Given the description of an element on the screen output the (x, y) to click on. 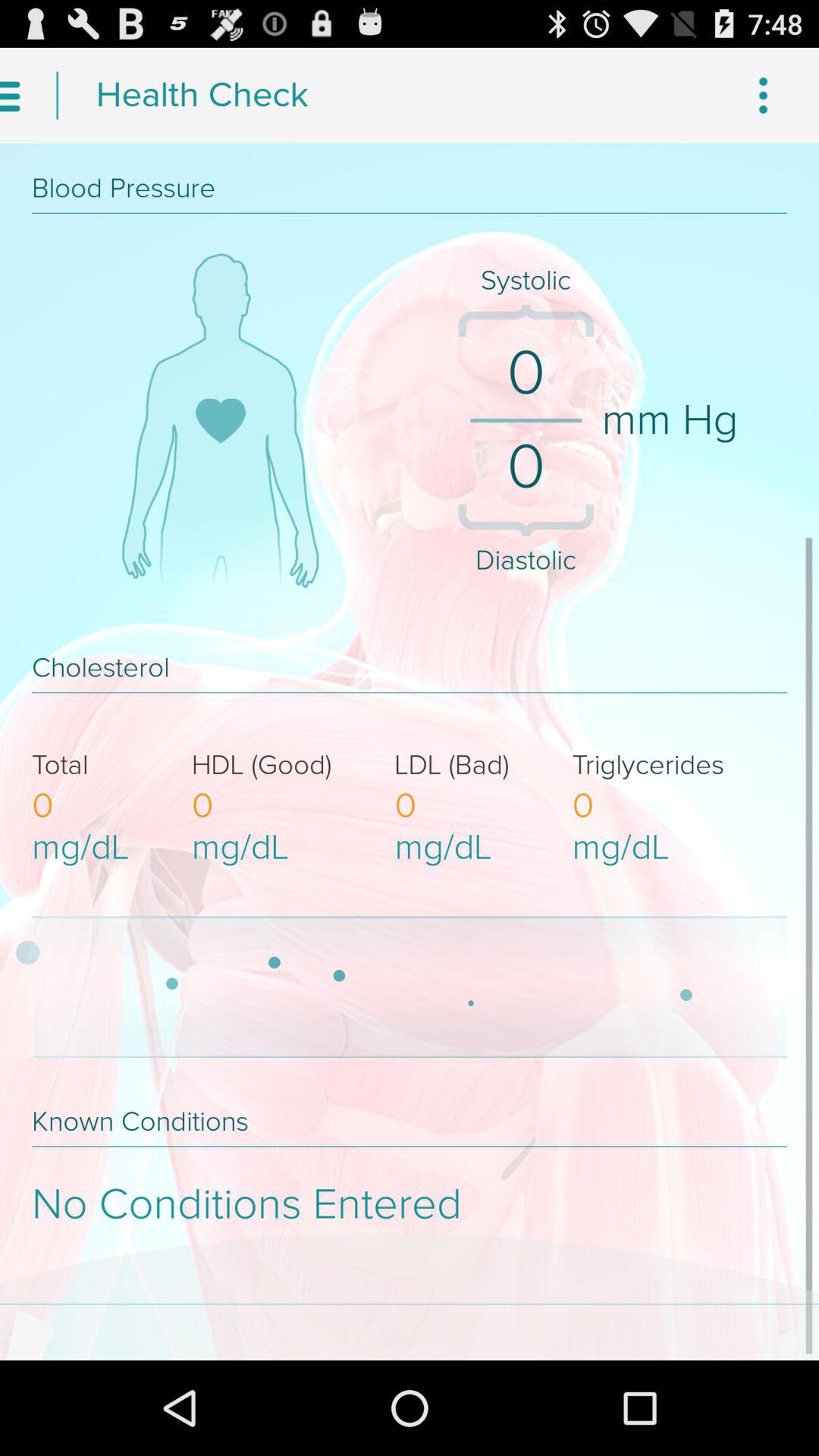
select the separator which is left to mm hg (525, 419)
